Given the description of an element on the screen output the (x, y) to click on. 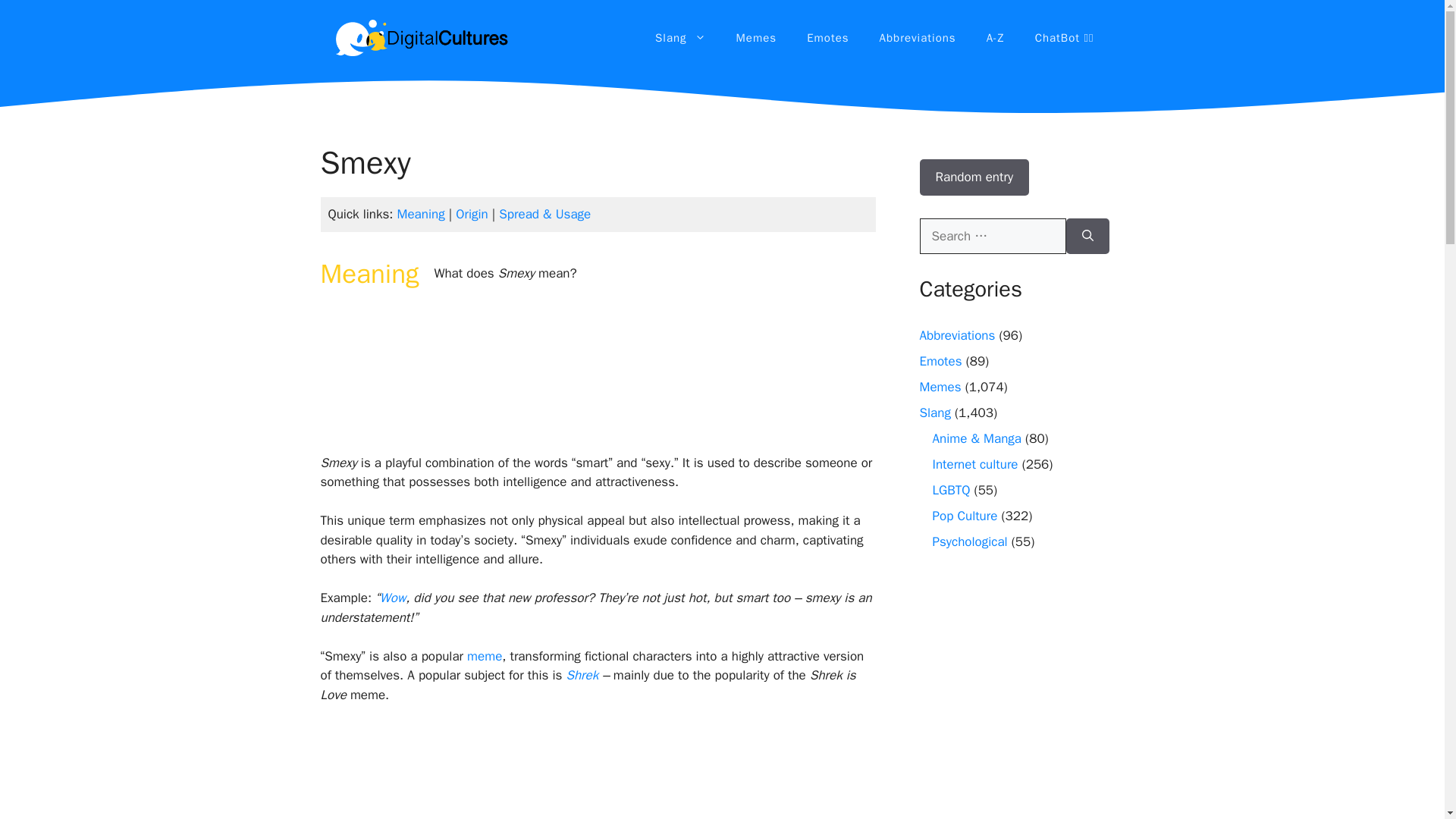
Random entry (973, 176)
Shrek (582, 675)
Search for: (991, 236)
Wow (393, 597)
Abbreviations (956, 335)
Slang (680, 37)
Random entry (973, 176)
meme (484, 656)
Abbreviations (917, 37)
Memes (756, 37)
Origin (471, 213)
Memes (939, 386)
Meaning (421, 213)
Emotes (939, 360)
Emotes (827, 37)
